Given the description of an element on the screen output the (x, y) to click on. 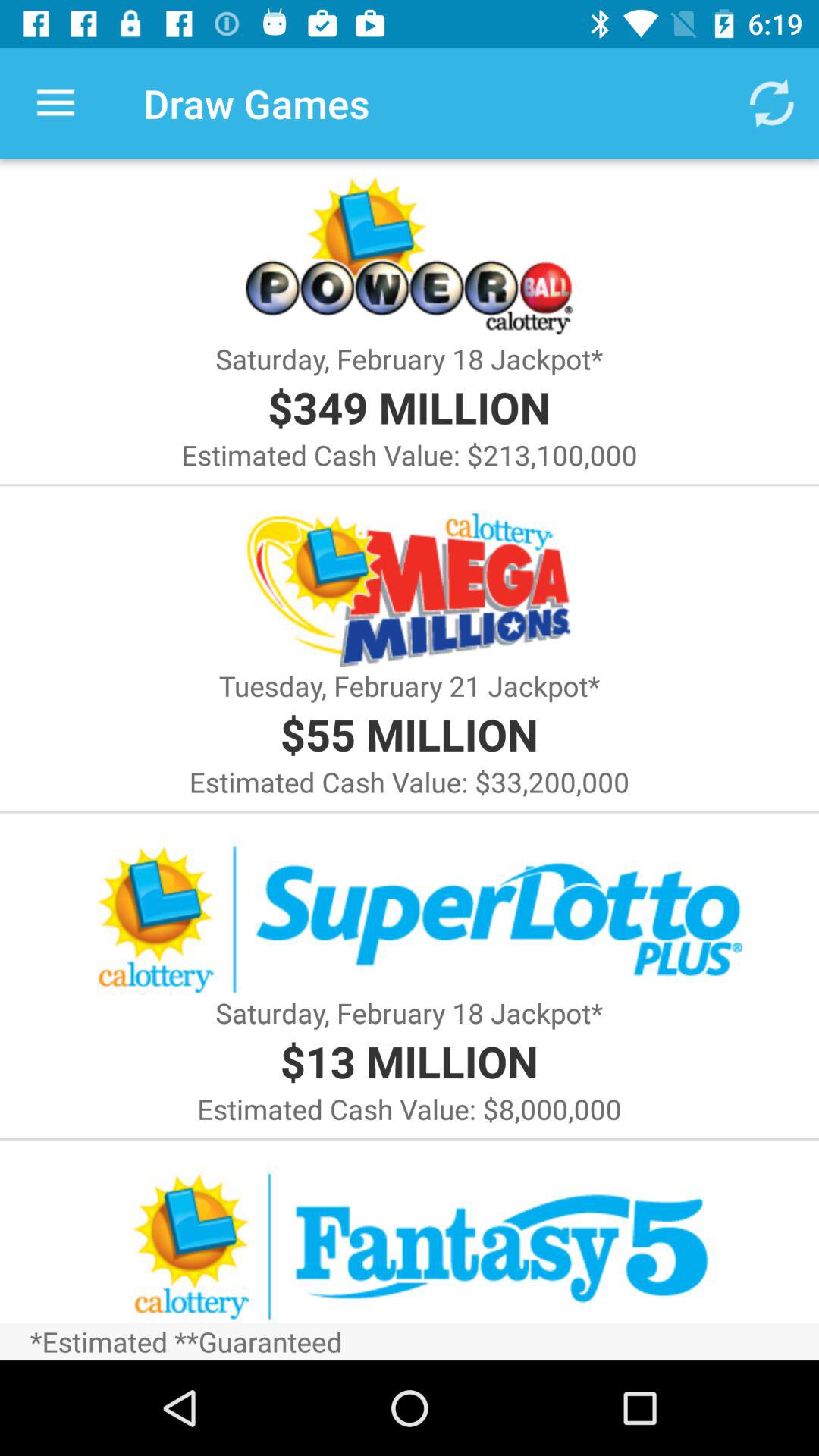
jump to the $55 million item (409, 733)
